Given the description of an element on the screen output the (x, y) to click on. 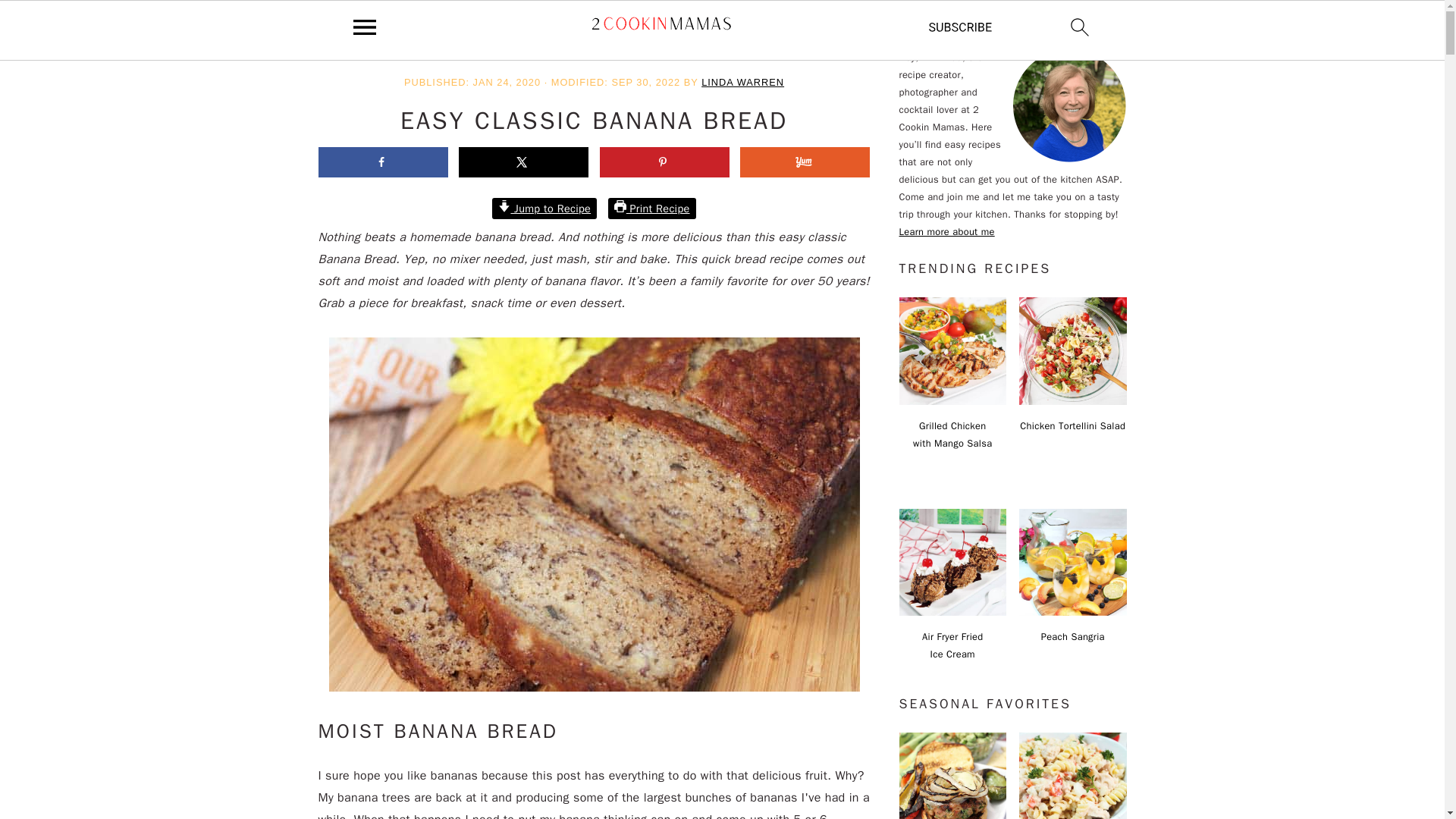
Share on Facebook (383, 162)
search icon (1080, 26)
Share on X (523, 162)
LINDA WARREN (742, 81)
Share on Yummly (804, 162)
Jump to Recipe (544, 208)
menu icon (365, 26)
Print Recipe (651, 208)
Save to Pinterest (664, 162)
Home (334, 50)
Recipes (384, 50)
